Given the description of an element on the screen output the (x, y) to click on. 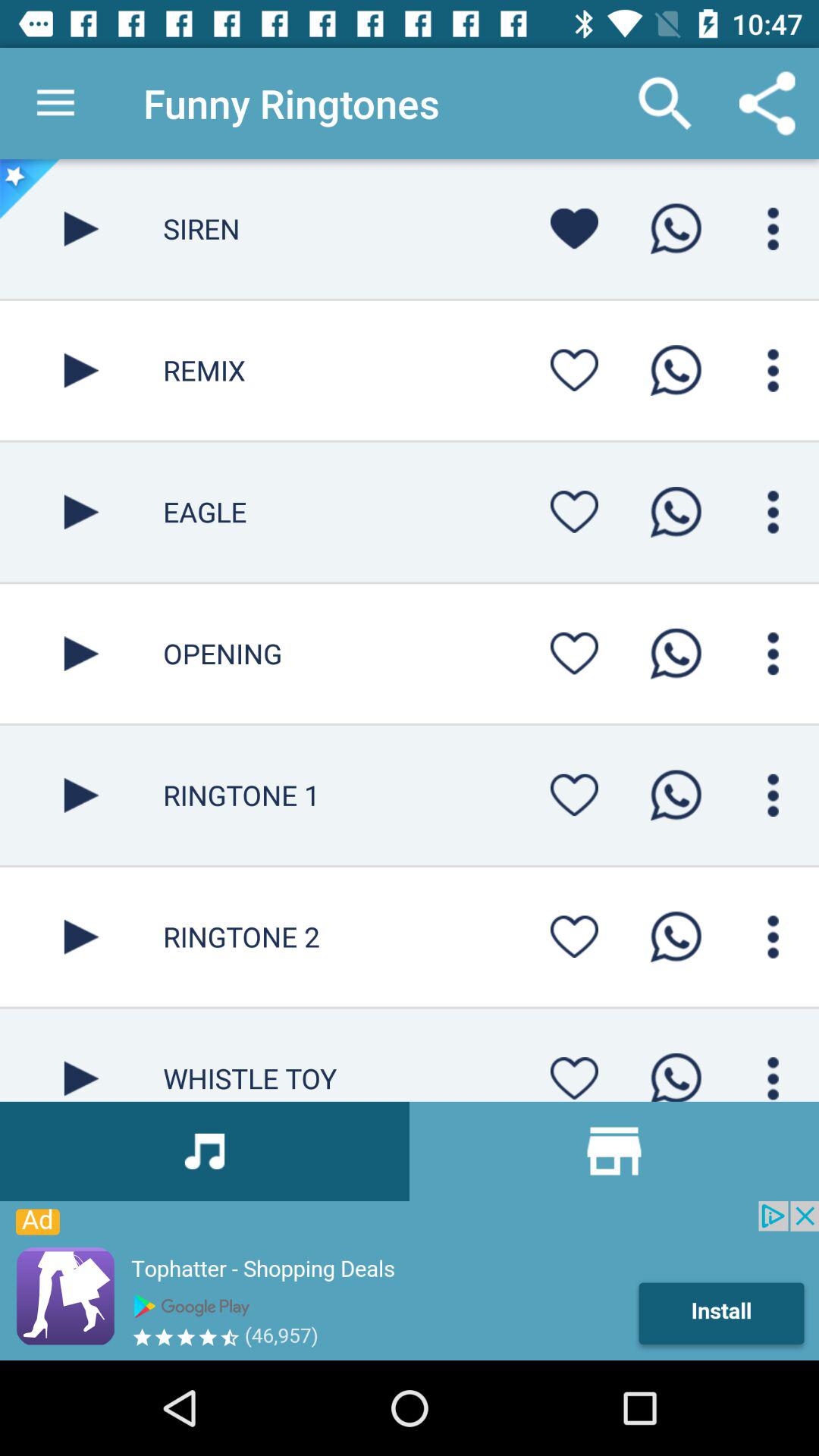
funny ringtone app play button (81, 228)
